Given the description of an element on the screen output the (x, y) to click on. 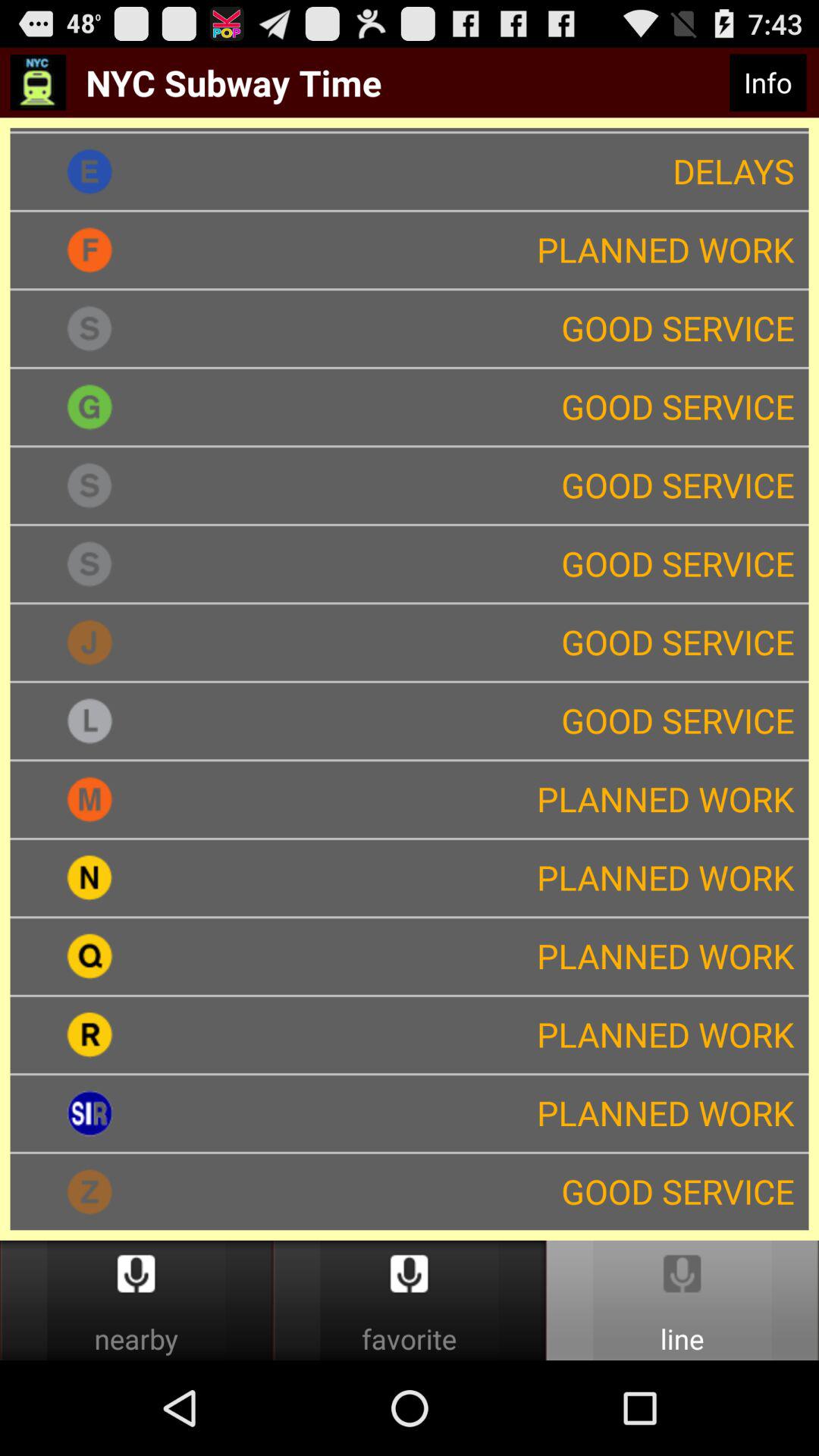
turn off icon above planned work icon (767, 82)
